Given the description of an element on the screen output the (x, y) to click on. 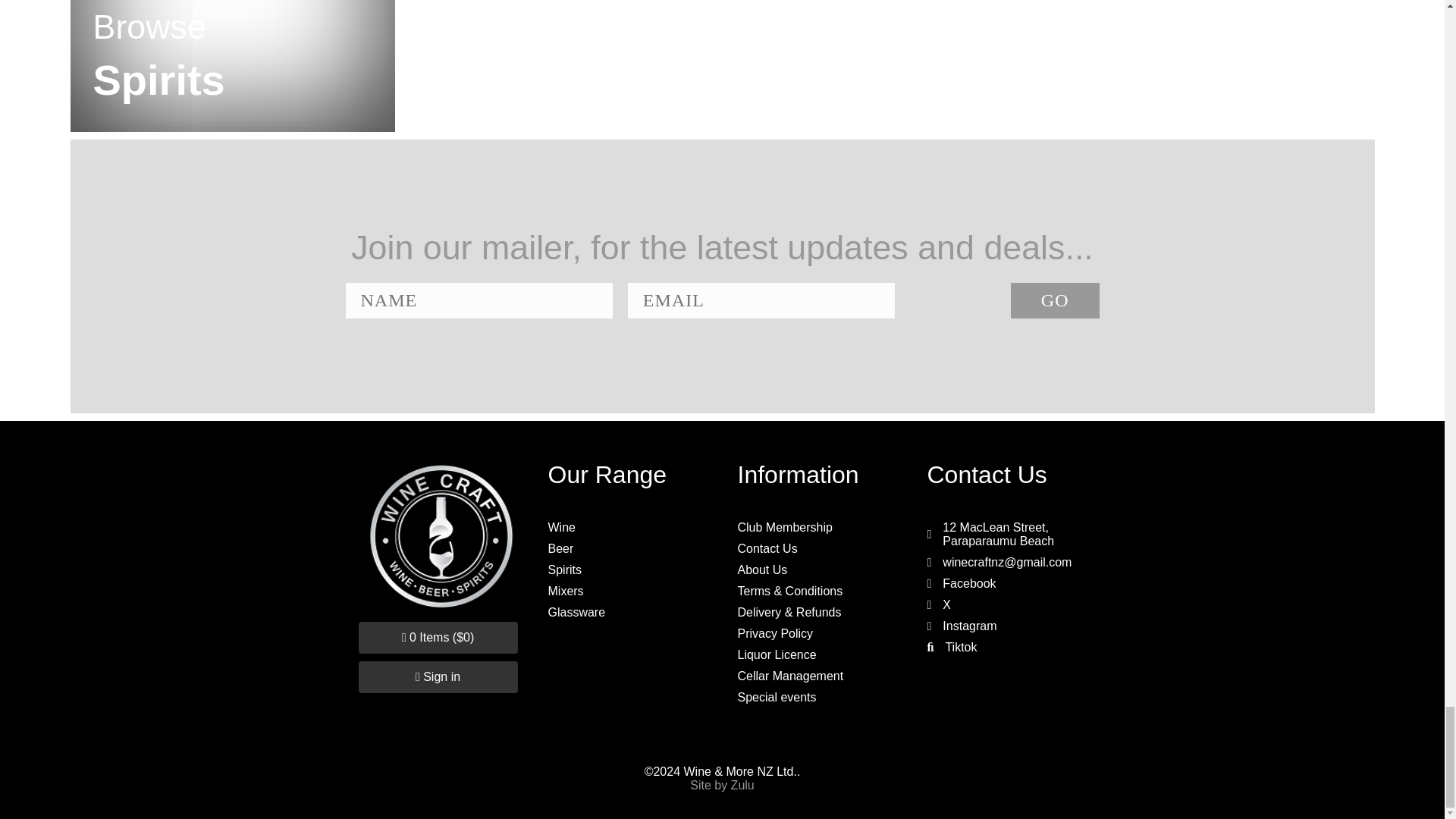
Login (437, 676)
View Basket (437, 637)
